Given the description of an element on the screen output the (x, y) to click on. 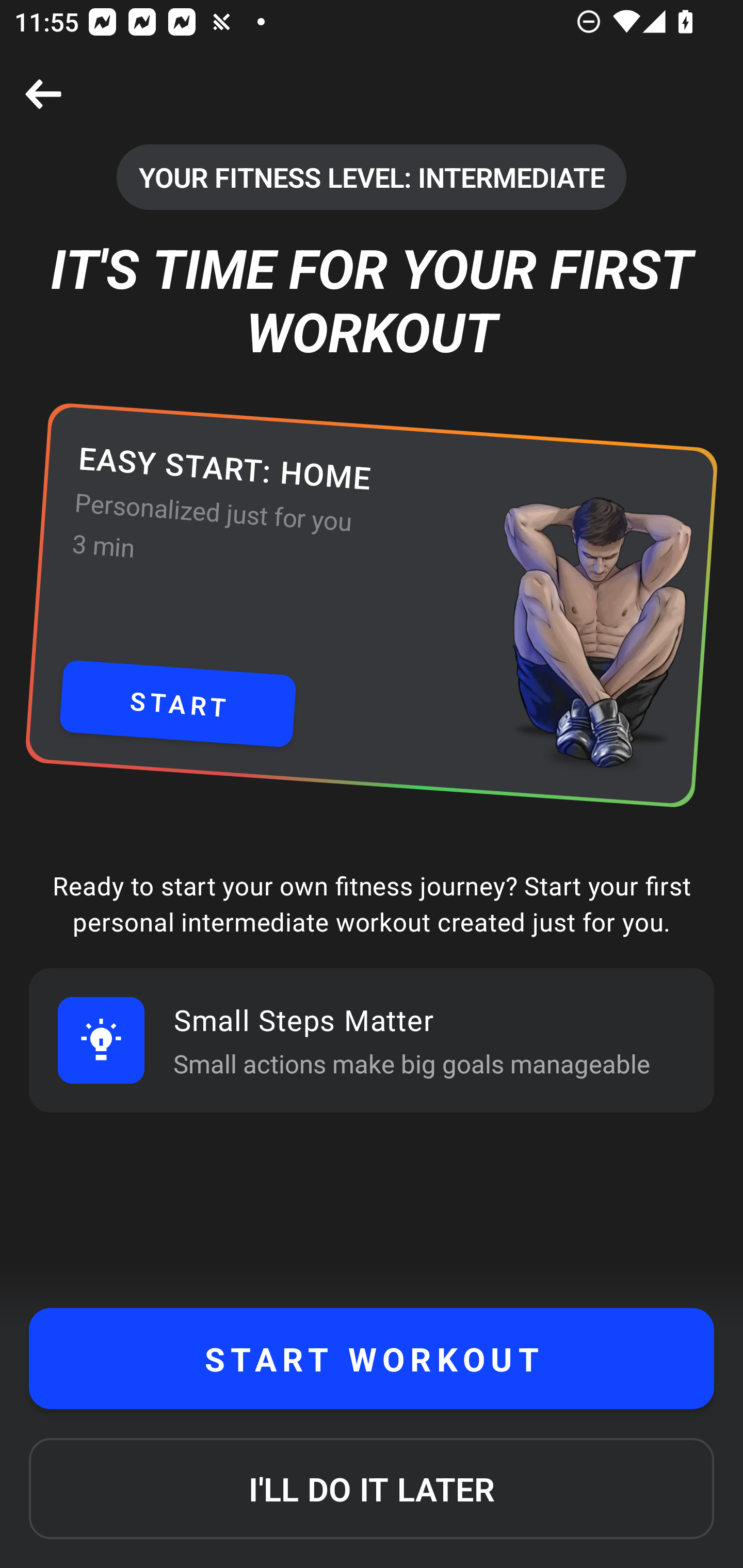
Close screen (43, 93)
START (177, 703)
START WORKOUT (371, 1358)
I'LL DO IT LATER (371, 1488)
